Given the description of an element on the screen output the (x, y) to click on. 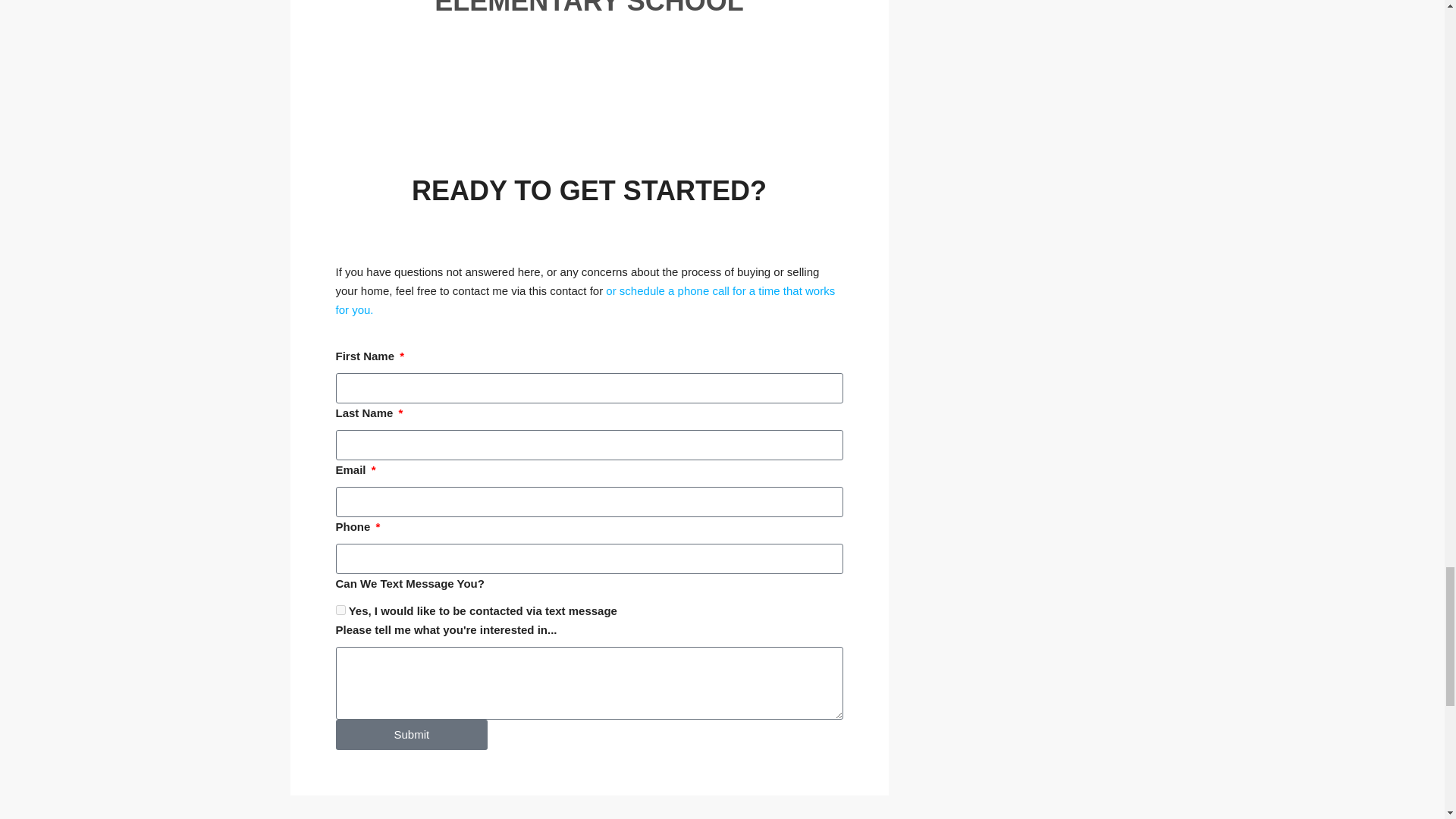
Yes, I would like to be contacted via text message (339, 610)
